Given the description of an element on the screen output the (x, y) to click on. 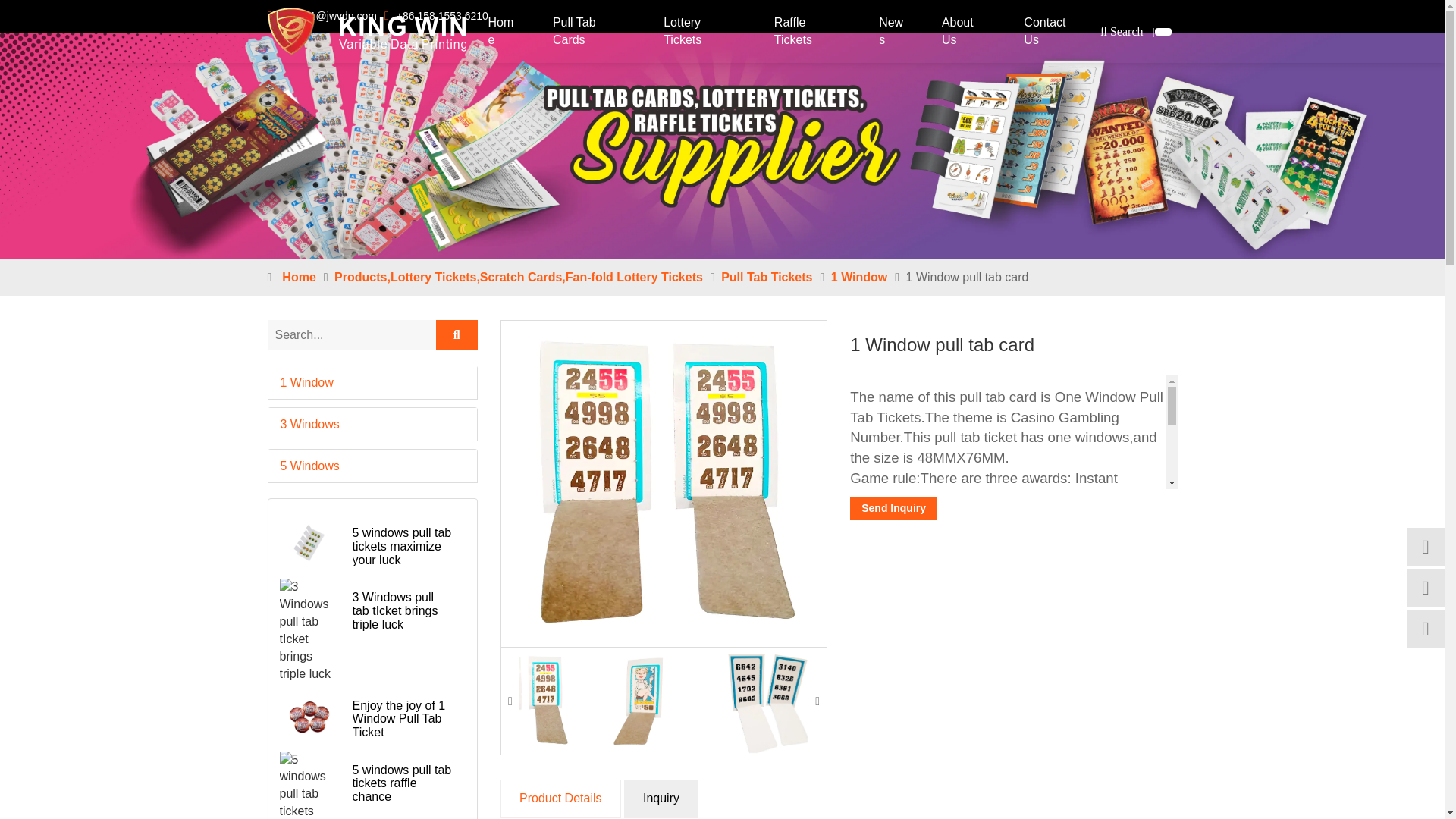
Home (504, 31)
Pull Tab Cards (591, 31)
Raffle Tickets (809, 31)
Enjoy the joy of 1 Window Pull Tab Ticket (309, 717)
About Us (966, 31)
News (893, 31)
5 windows pull tab tickets raffle chance (309, 785)
Contact Us (1053, 31)
Lottery Tickets (702, 31)
5 windows pull tab tickets maximize your luck (309, 544)
